Given the description of an element on the screen output the (x, y) to click on. 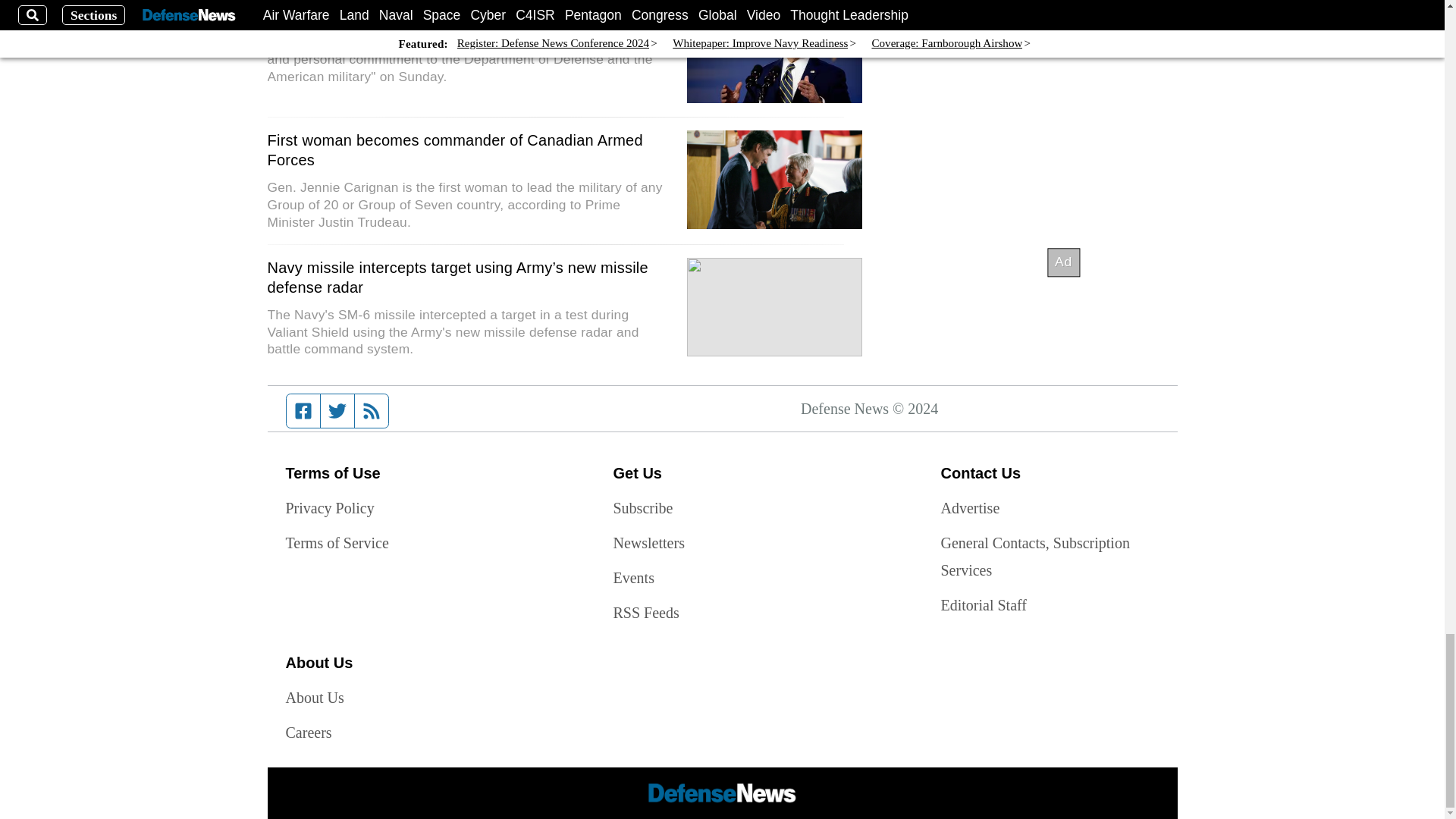
Twitter feed (336, 410)
RSS feed (371, 410)
Facebook page (303, 410)
